Given the description of an element on the screen output the (x, y) to click on. 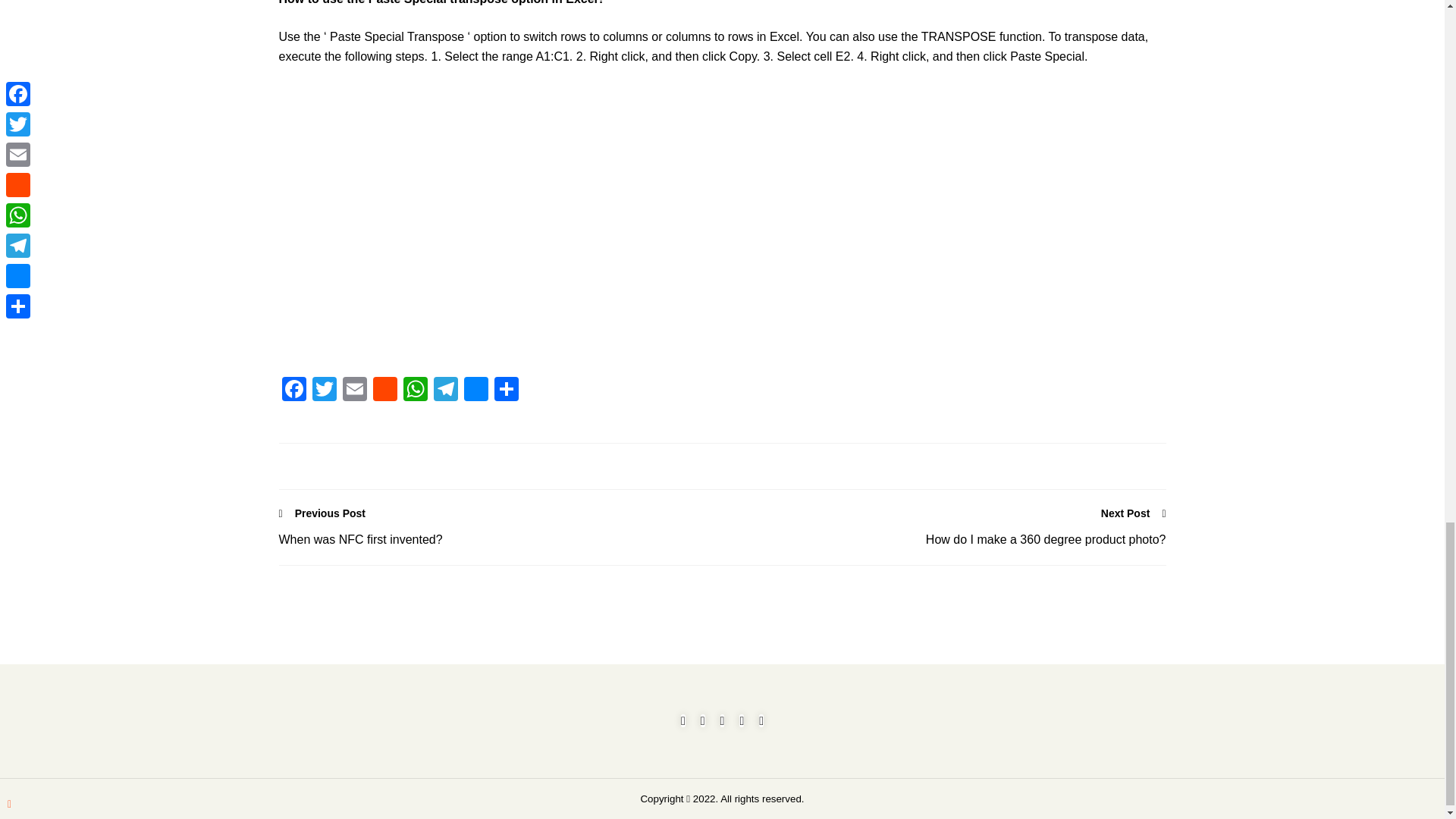
Reddit (384, 390)
How do I make a 360 degree product photo? (944, 539)
Messenger (476, 390)
When was NFC first invented? (500, 539)
Share (506, 390)
Telegram (445, 390)
WhatsApp (415, 390)
Email (354, 390)
Messenger (476, 390)
Email (354, 390)
Telegram (445, 390)
Twitter (323, 390)
Facebook (293, 390)
Facebook (293, 390)
Reddit (384, 390)
